Given the description of an element on the screen output the (x, y) to click on. 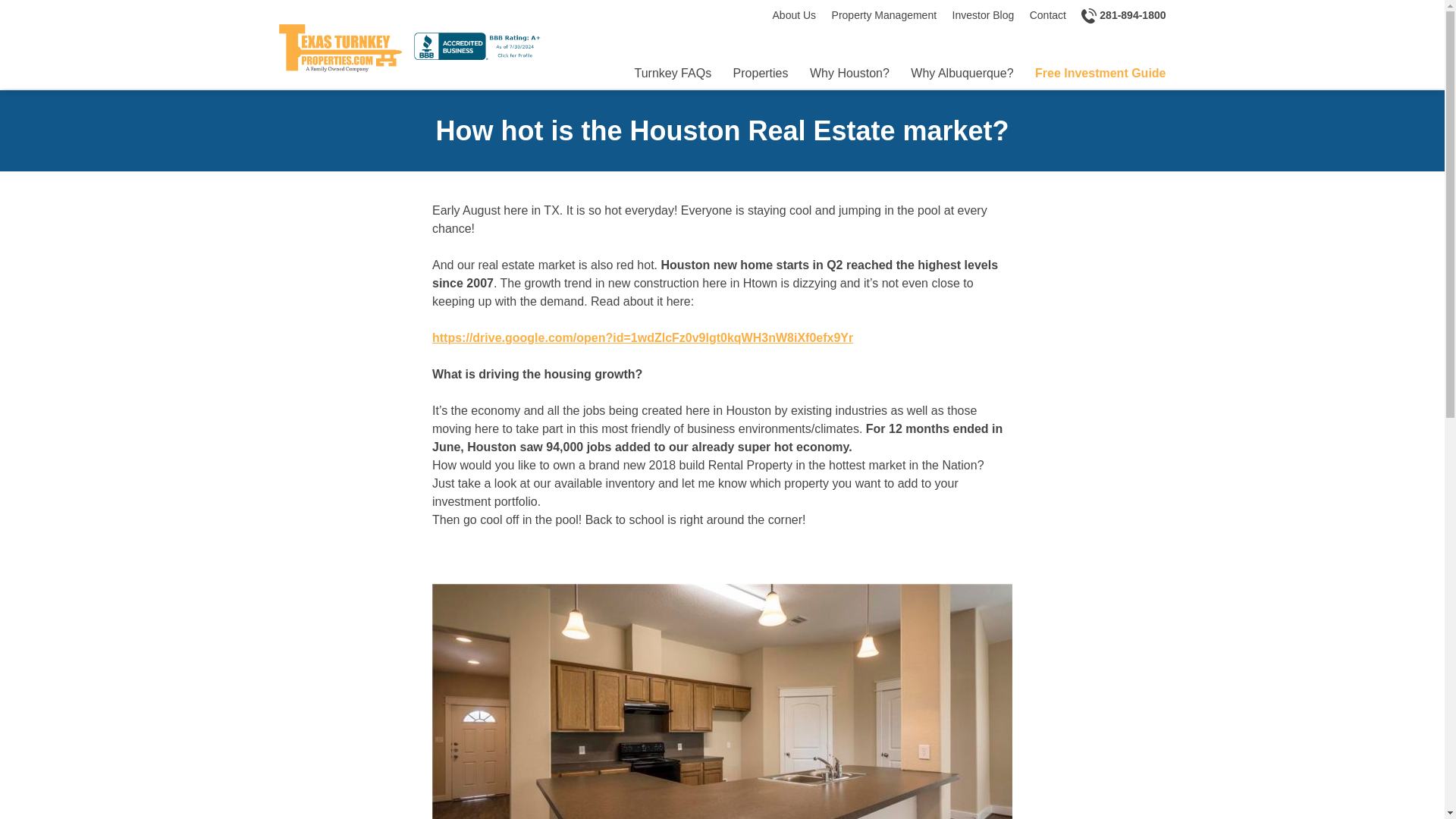
Contact (1047, 15)
Investor Blog (983, 15)
Why Albuquerque? (962, 73)
Free Investment Guide (1100, 73)
Turnkey FAQs (672, 73)
Properties (761, 73)
Why Houston? (849, 73)
Property Management (884, 15)
281-894-1800 (1123, 15)
About Us (794, 15)
